Given the description of an element on the screen output the (x, y) to click on. 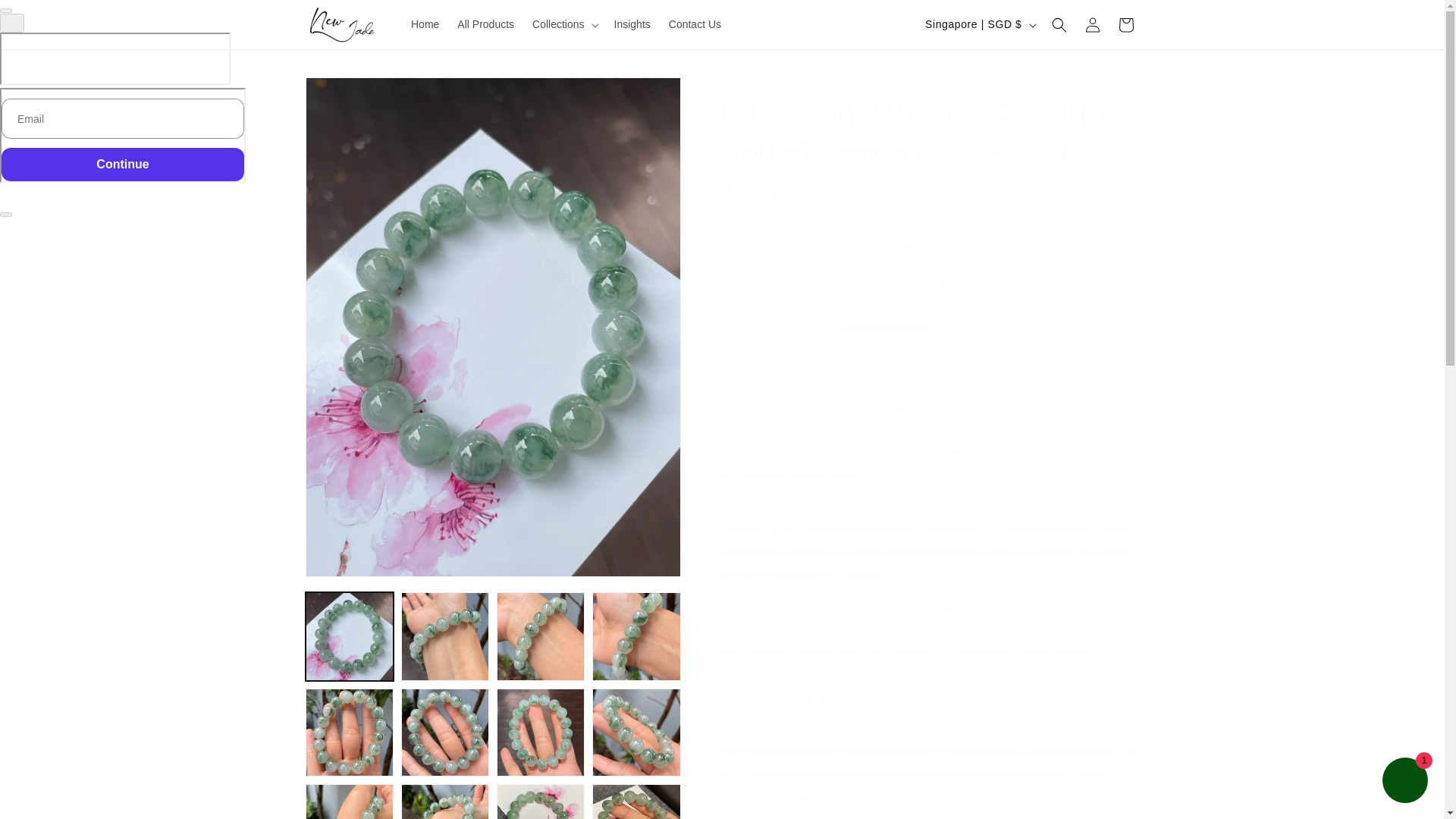
Shopify online store chat (1404, 781)
Skip to content (45, 17)
Insights (632, 24)
All Products (485, 24)
Home (424, 24)
Contact Us (694, 24)
